Given the description of an element on the screen output the (x, y) to click on. 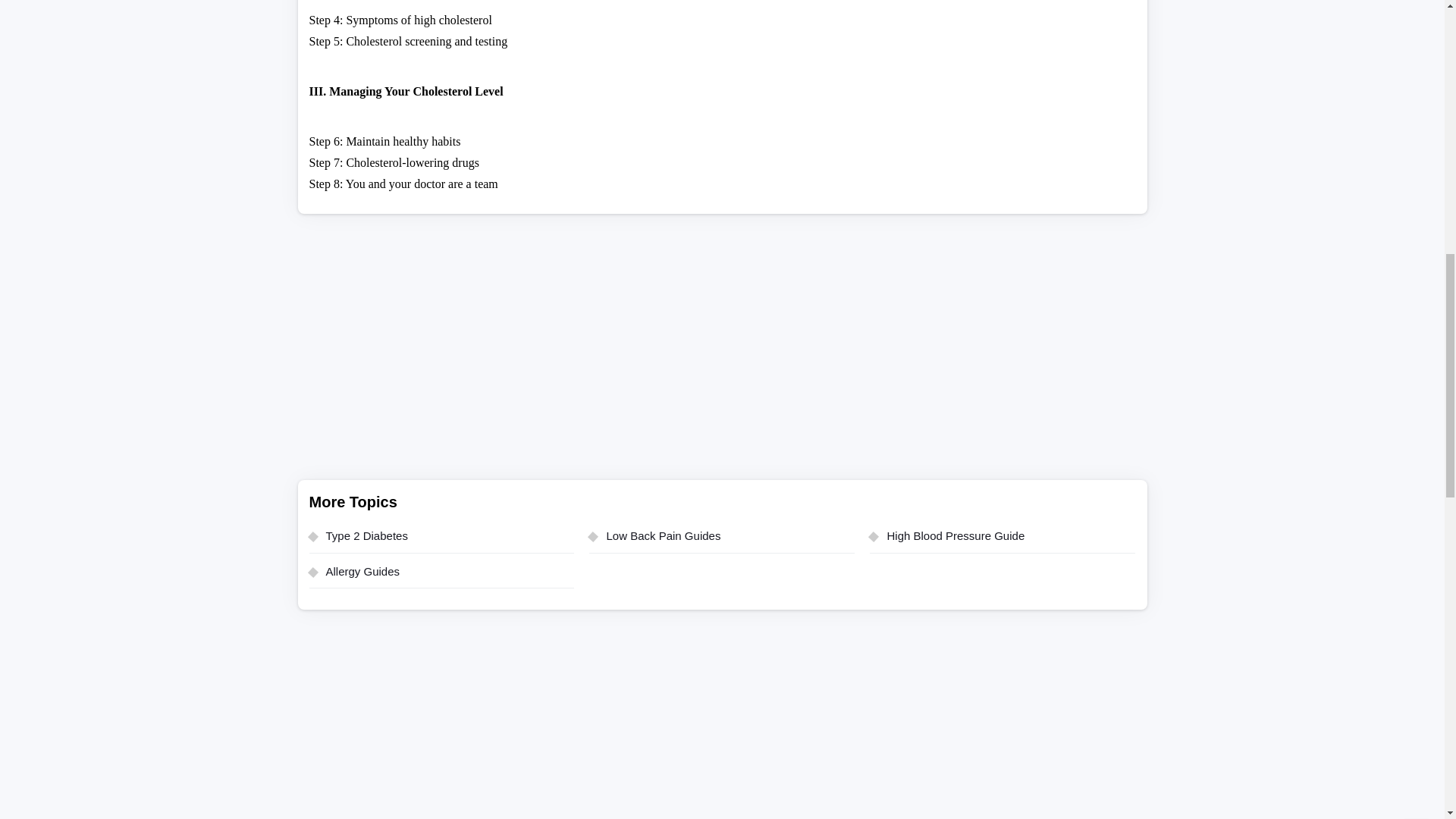
Allergy Guides (441, 575)
Type 2 Diabetes (441, 540)
Low Back Pain Guides (721, 540)
High Blood Pressure Guide (1002, 540)
